Given the description of an element on the screen output the (x, y) to click on. 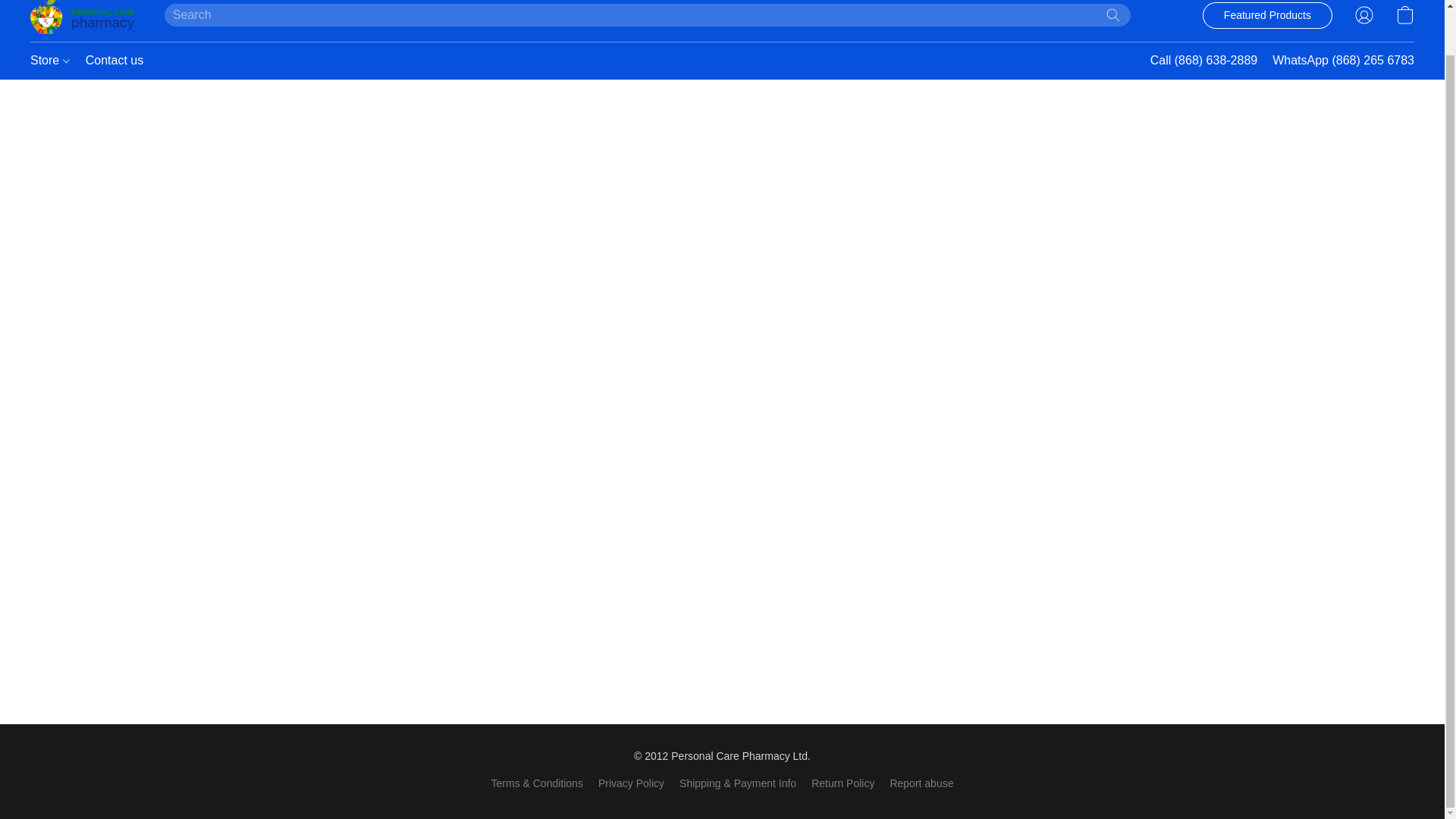
Privacy Policy (630, 782)
Store (54, 60)
Featured Products (1267, 15)
Go to your shopping cart (1404, 15)
Contact us (110, 60)
Report abuse (921, 782)
Return Policy (842, 782)
